Given the description of an element on the screen output the (x, y) to click on. 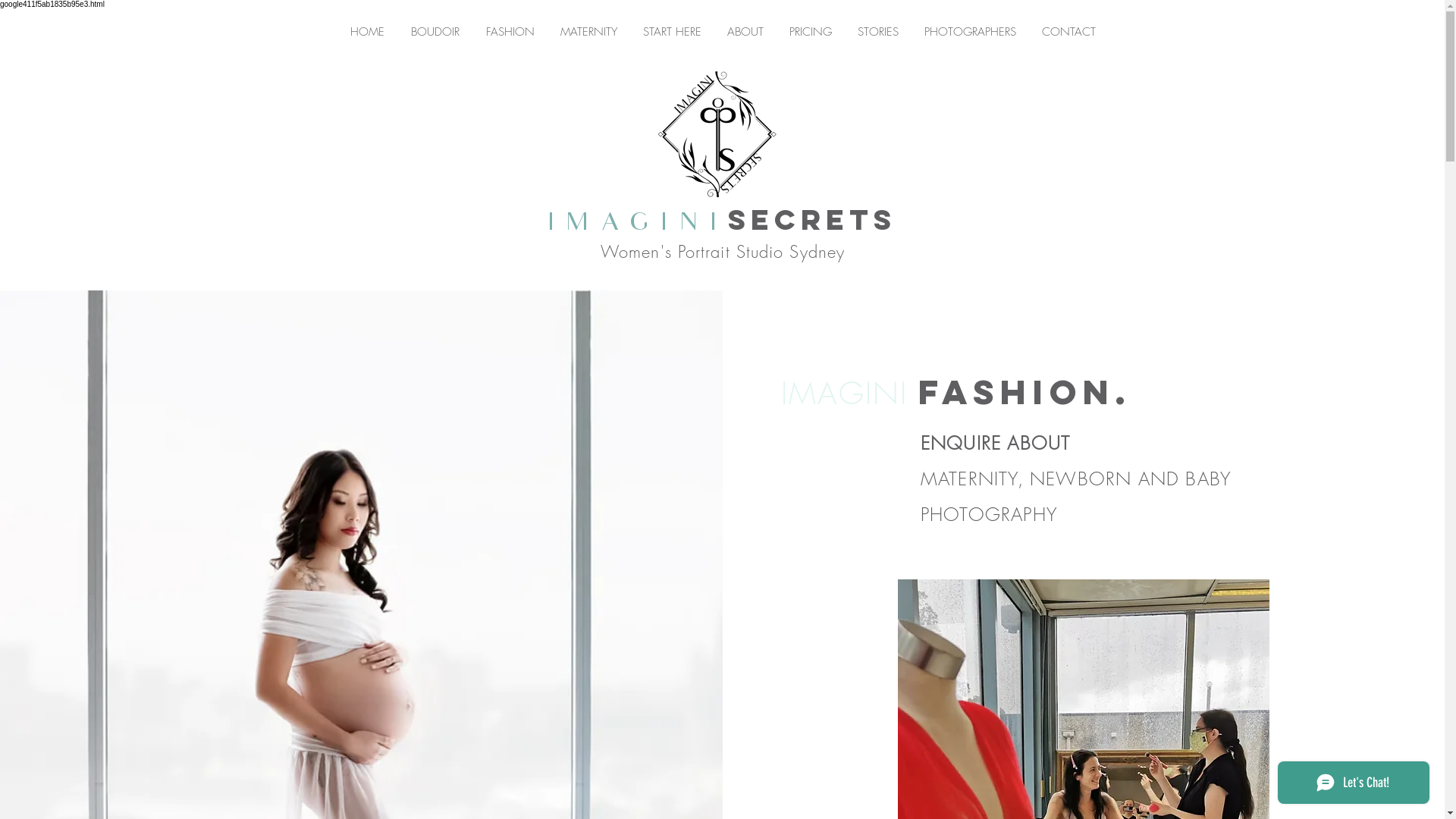
IMAGINI Element type: text (637, 224)
STORIES Element type: text (877, 32)
logo v2 square copy.png Element type: hover (716, 134)
PRICING Element type: text (810, 32)
SECRETs Element type: text (812, 219)
BOUDOIR Element type: text (434, 32)
FASHION Element type: text (510, 32)
PHOTOGRAPHERS Element type: text (970, 32)
ABOUT Element type: text (745, 32)
CONTACT Element type: text (1067, 32)
HOME Element type: text (366, 32)
START HERE Element type: text (671, 32)
MATERNITY Element type: text (588, 32)
